Given the description of an element on the screen output the (x, y) to click on. 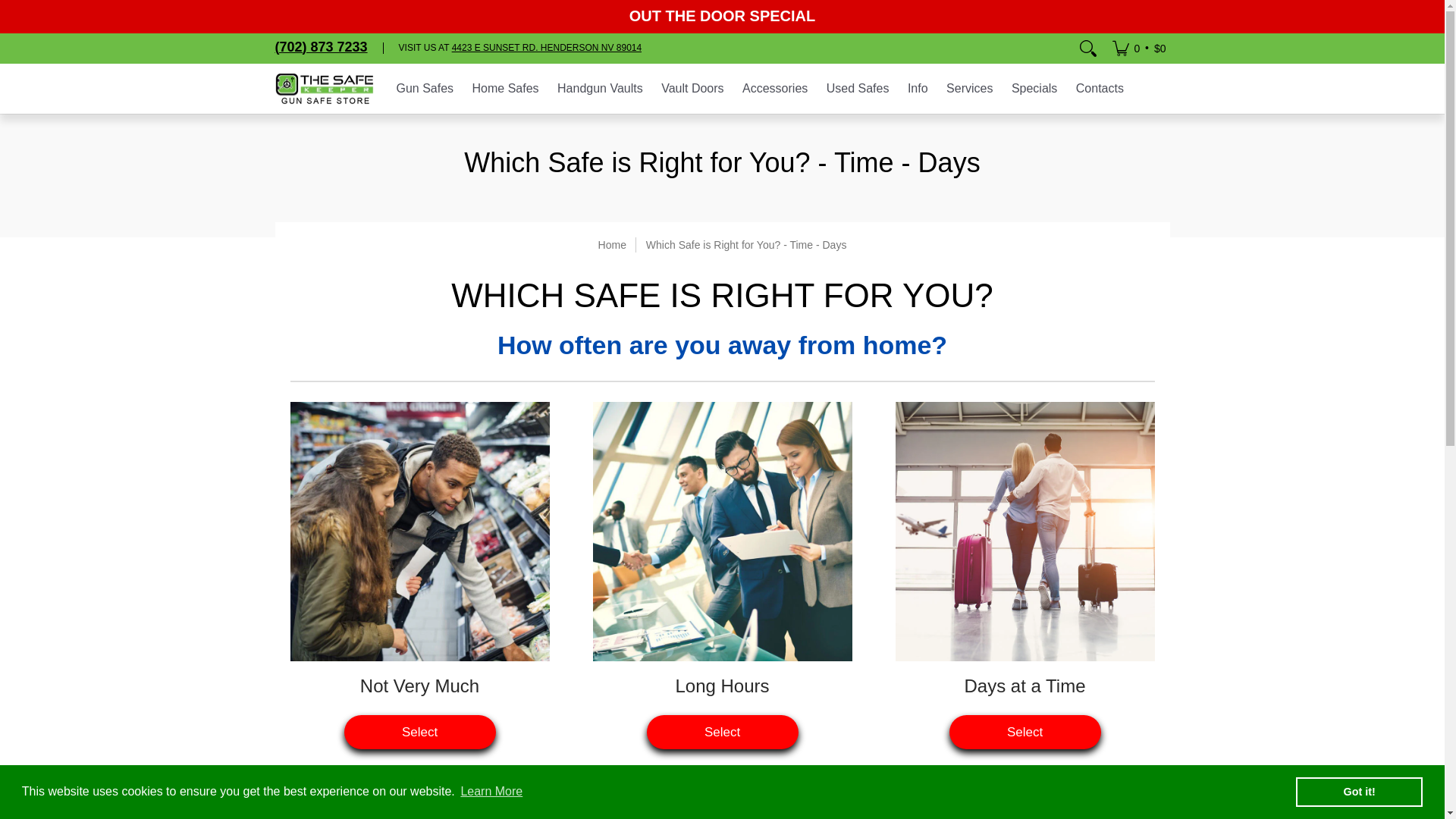
Gun Safes (424, 88)
OUT THE DOOR SPECIAL (721, 15)
Home Safes (505, 88)
Liberty Gun Safes Henderson (323, 88)
Handgun Vaults (600, 88)
4423 E SUNSET RD. HENDERSON NV 89014 (546, 47)
Got it! (1358, 791)
Out The Door Special (721, 15)
Learn More (491, 791)
Cart (1138, 48)
Gun Safes (424, 88)
